Given the description of an element on the screen output the (x, y) to click on. 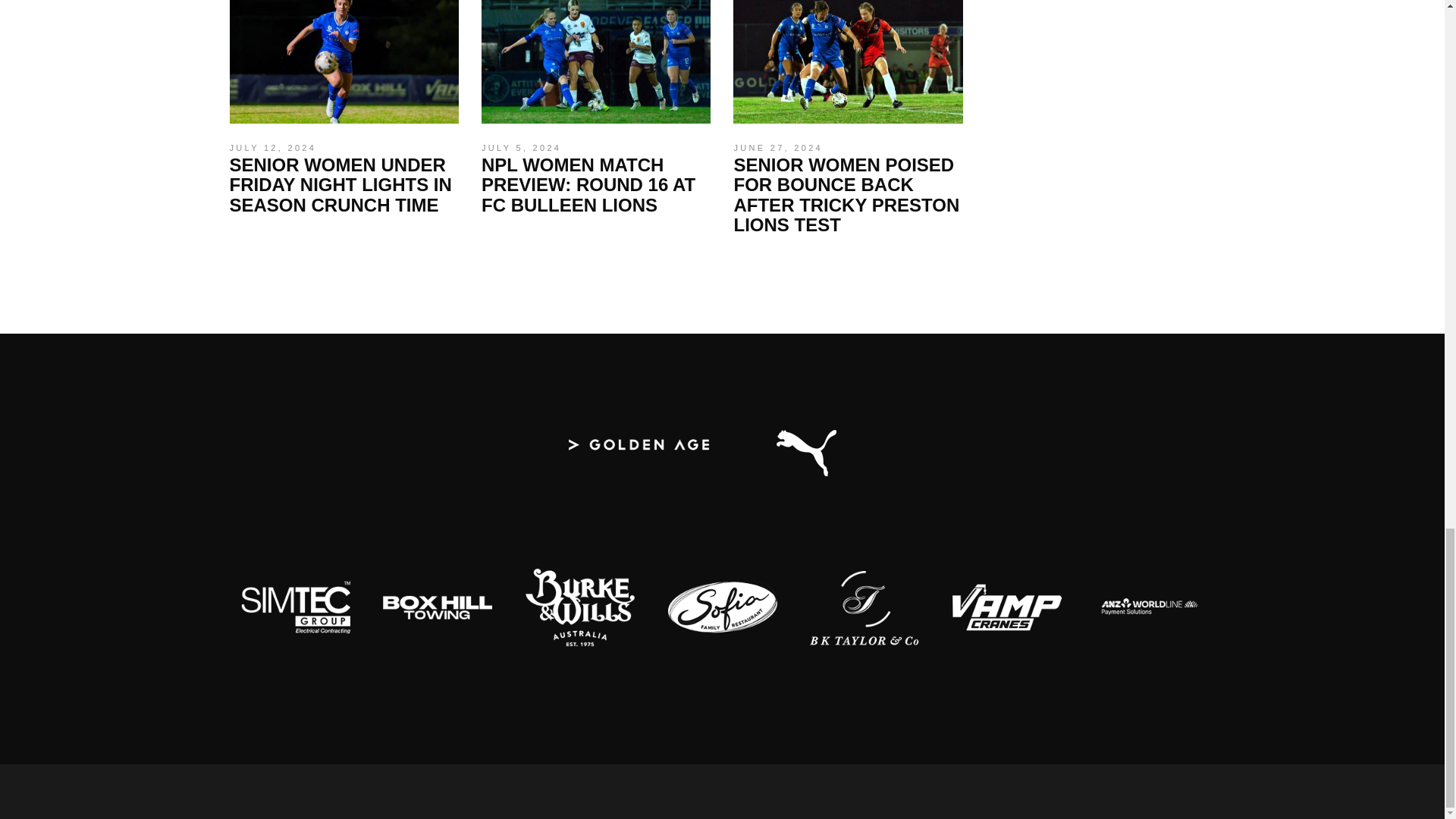
NPL Women Match Preview: Round 16 at FC Bulleen Lions (520, 147)
Senior Women under Friday night lights in season crunch time (271, 147)
Senior Women under Friday night lights in season crunch time (339, 184)
NPL Women Match Preview: Round 16 at FC Bulleen Lions (595, 61)
Senior Women under Friday night lights in season crunch time (343, 61)
NPL Women Match Preview: Round 16 at FC Bulleen Lions (588, 184)
